Given the description of an element on the screen output the (x, y) to click on. 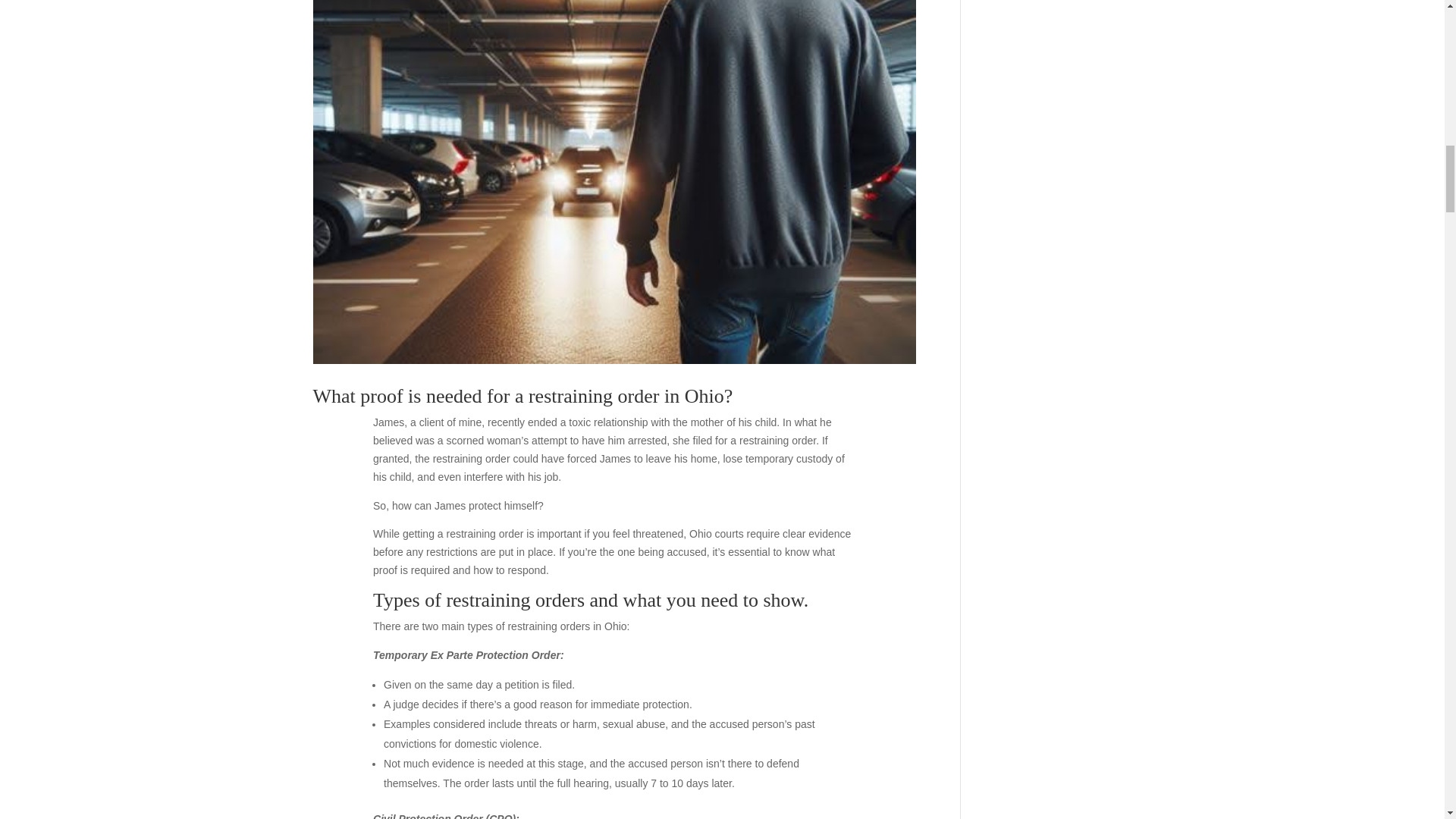
What proof is needed for a restraining order in Ohio? (522, 395)
